Given the description of an element on the screen output the (x, y) to click on. 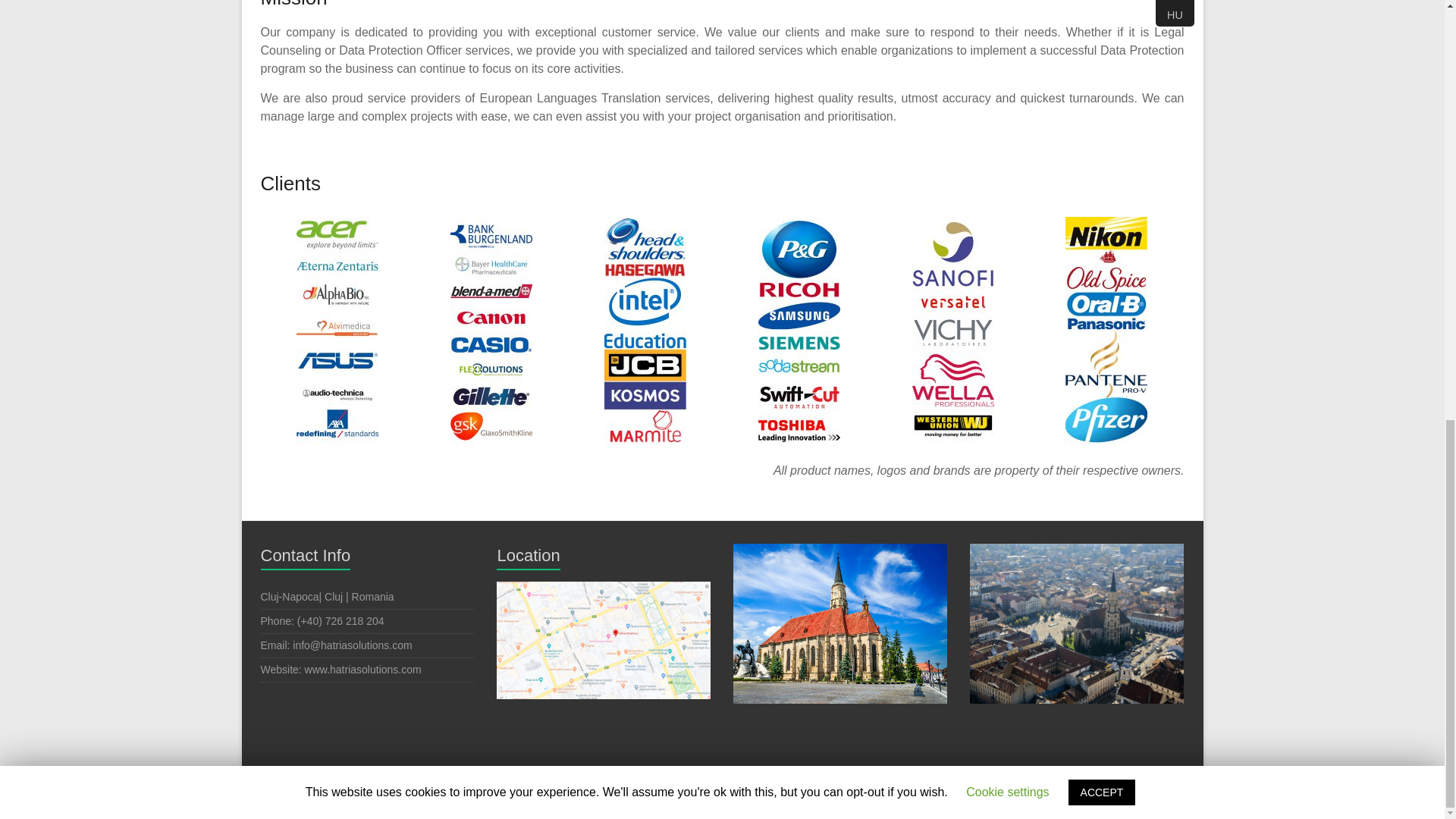
Location (603, 640)
Hatria Solutions (365, 781)
Hatria Solutions (365, 781)
